Given the description of an element on the screen output the (x, y) to click on. 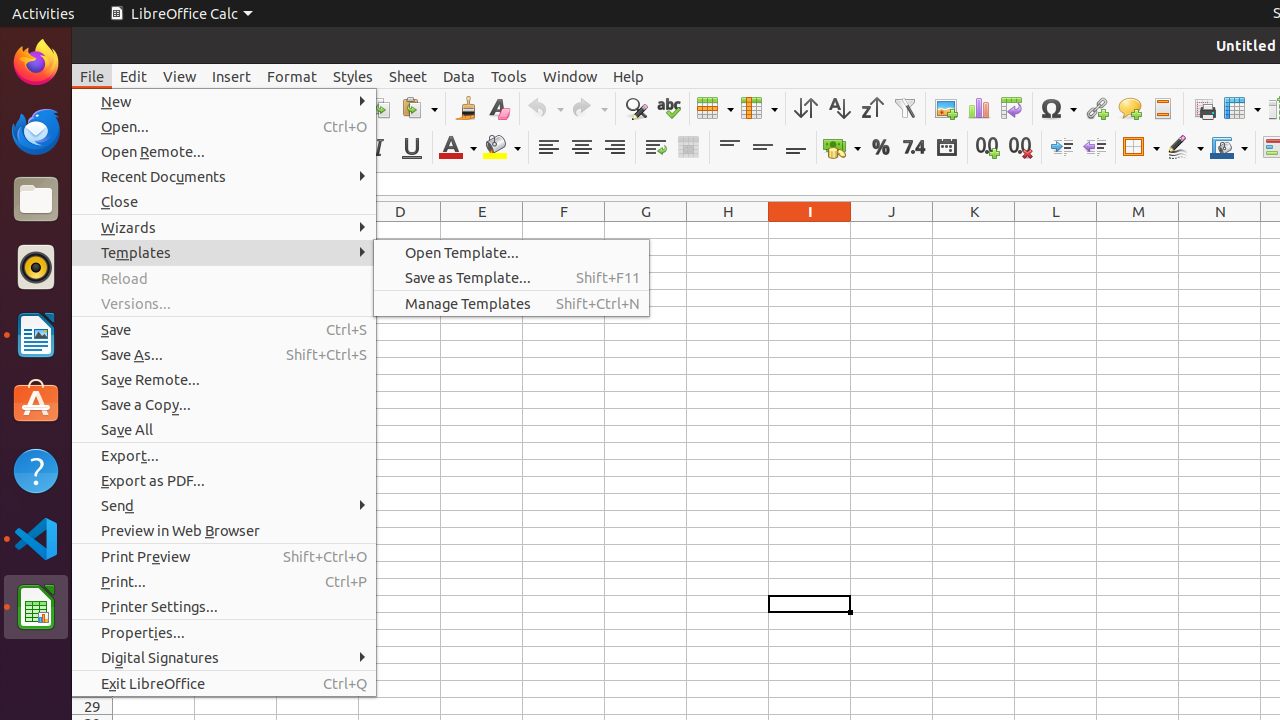
K1 Element type: table-cell (974, 230)
Sort Element type: push-button (805, 108)
Currency Element type: push-button (842, 147)
Print Area Element type: push-button (1203, 108)
Chart Element type: push-button (978, 108)
